Given the description of an element on the screen output the (x, y) to click on. 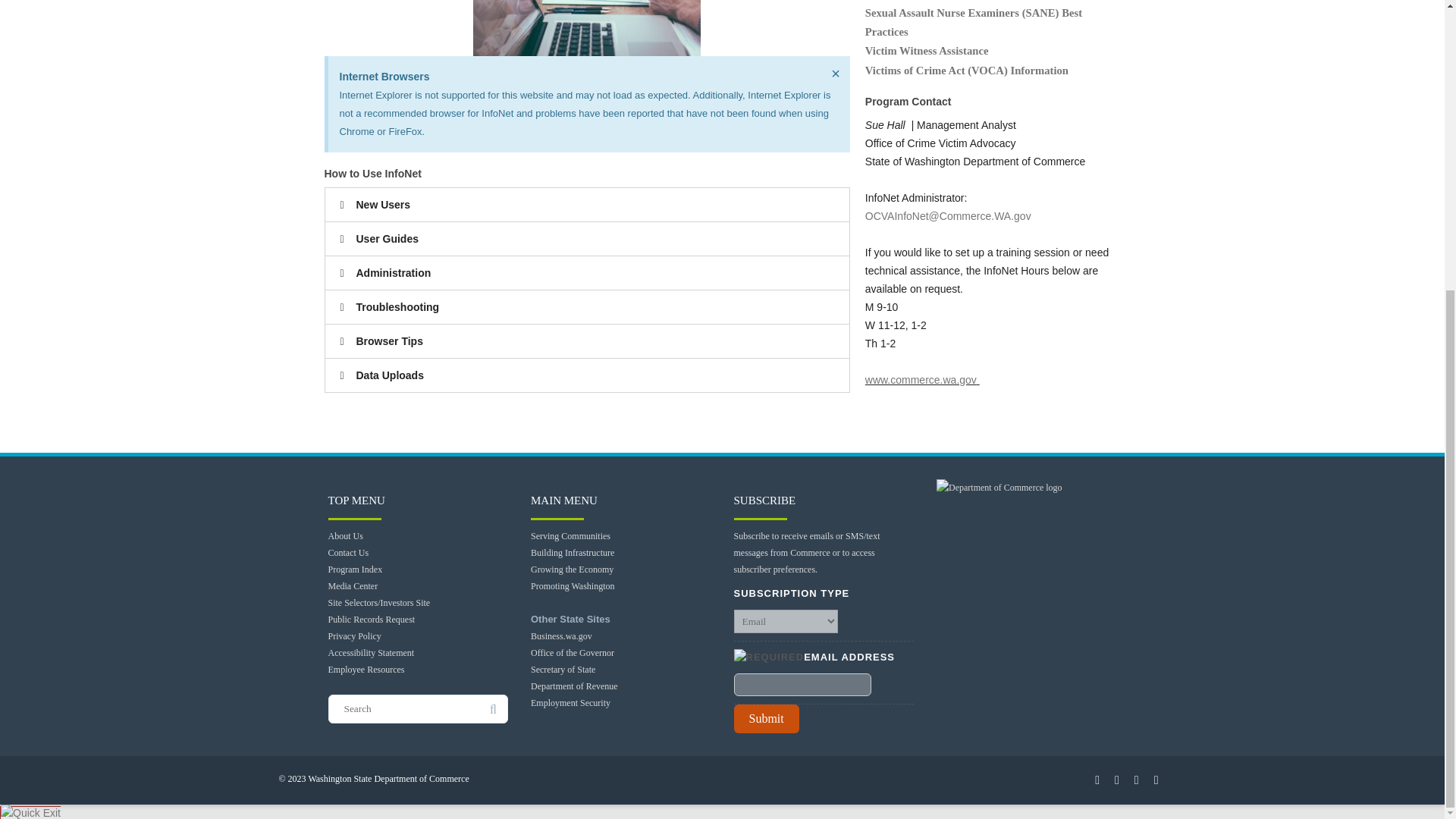
Search for: (417, 708)
Submit (766, 718)
